Given the description of an element on the screen output the (x, y) to click on. 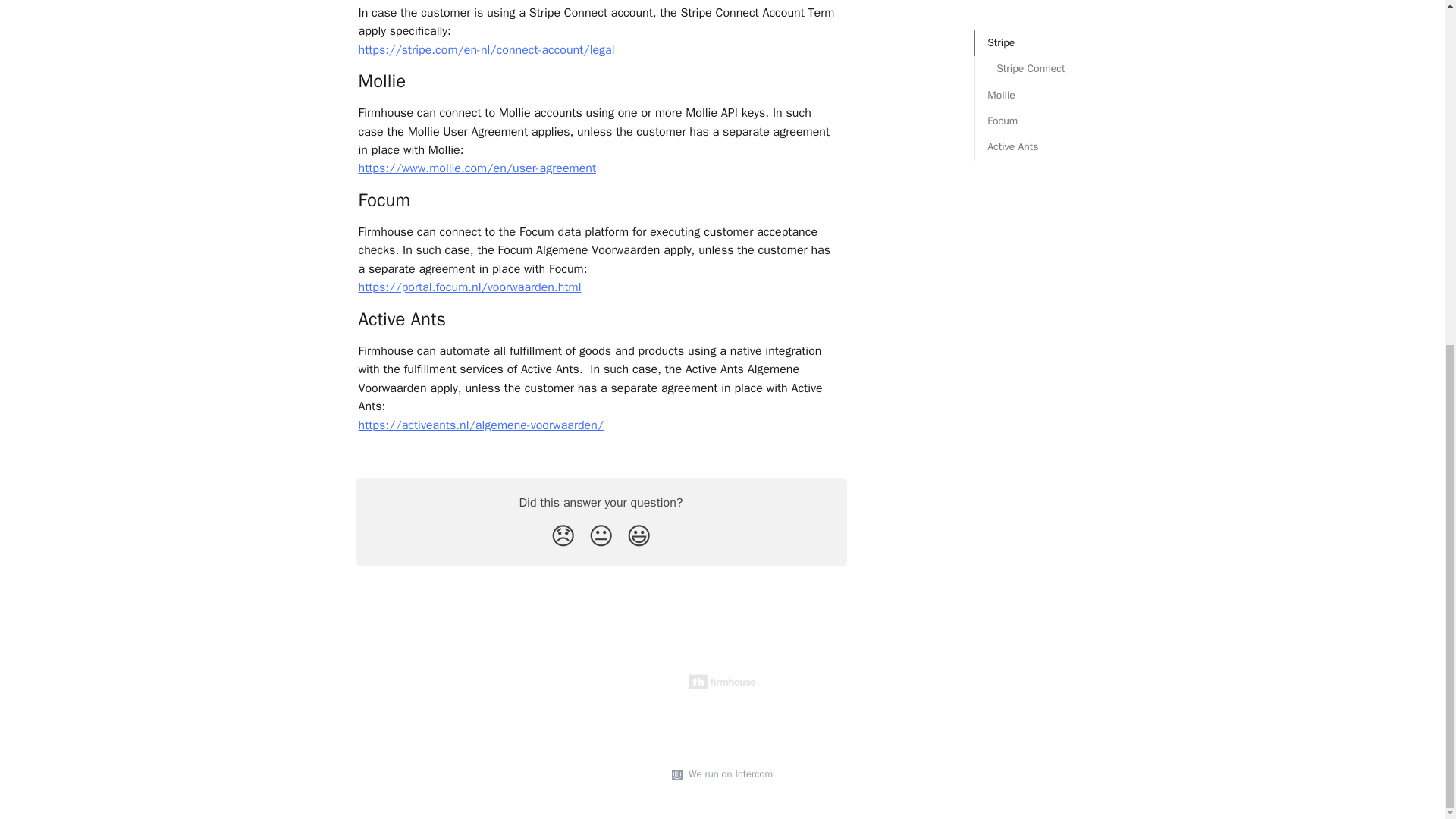
We run on Intercom (727, 774)
